Given the description of an element on the screen output the (x, y) to click on. 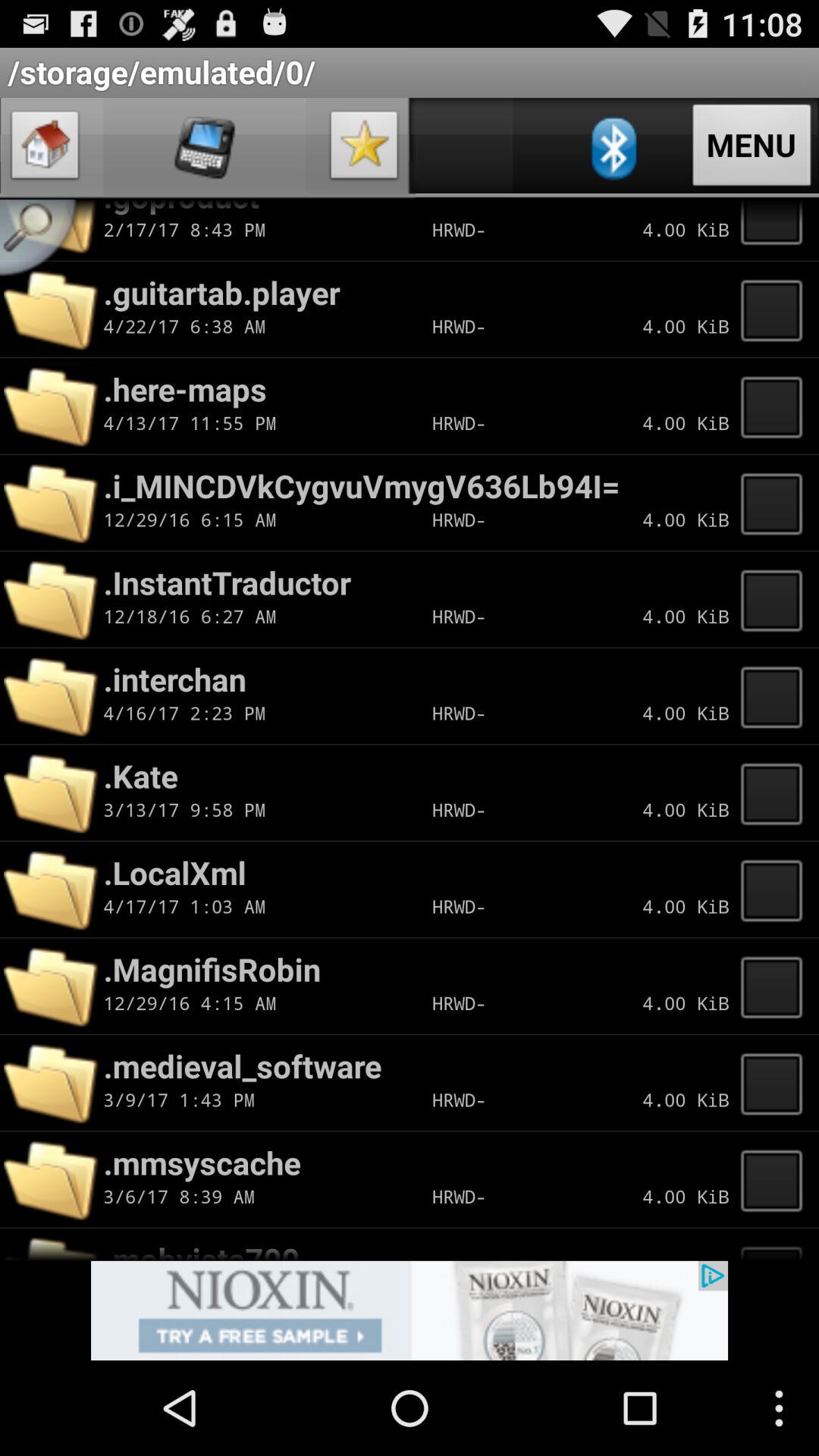
toggle on (776, 985)
